Given the description of an element on the screen output the (x, y) to click on. 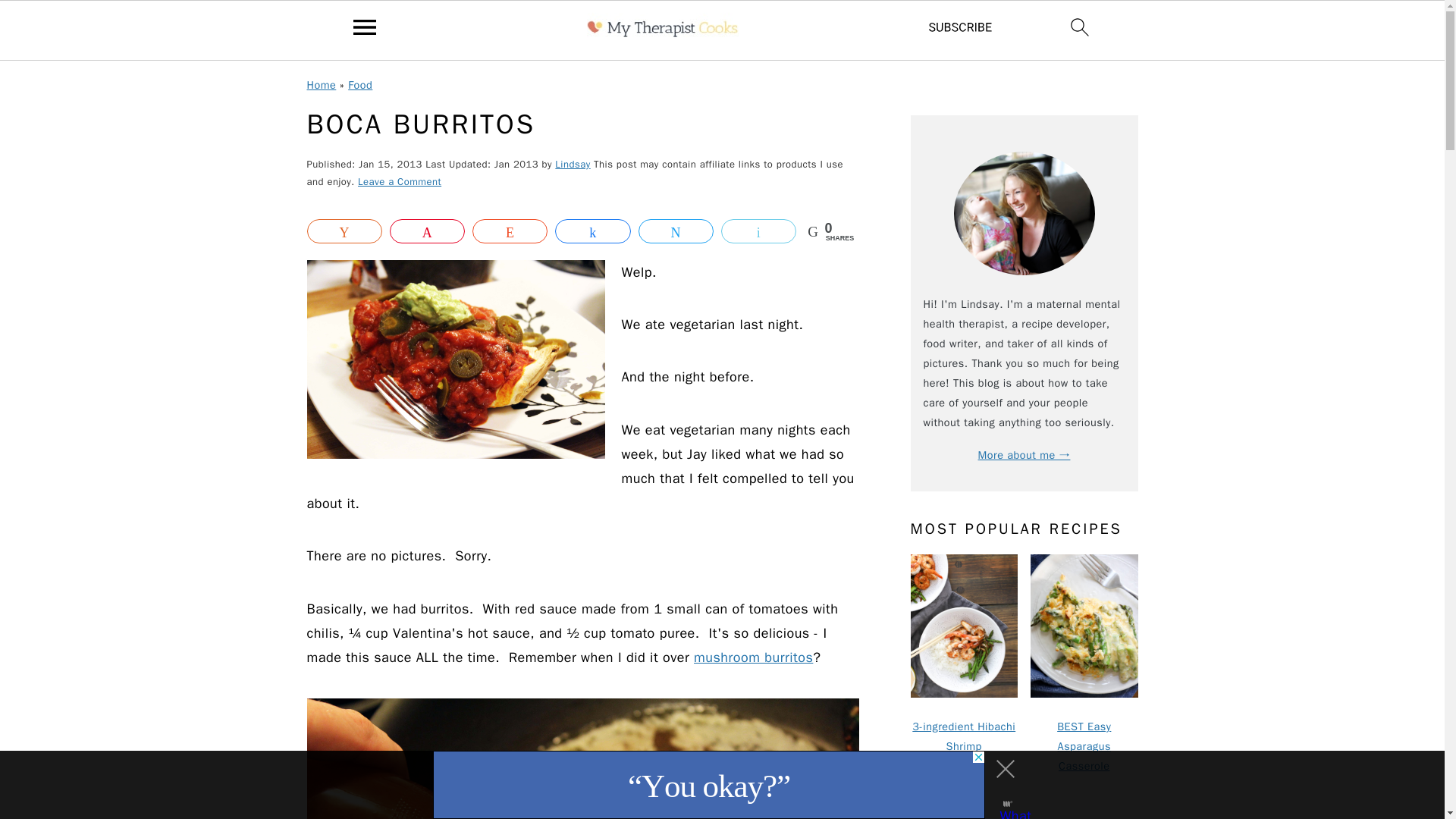
Home (320, 84)
menu icon (365, 26)
search icon (1080, 26)
3rd party ad content (708, 785)
